Given the description of an element on the screen output the (x, y) to click on. 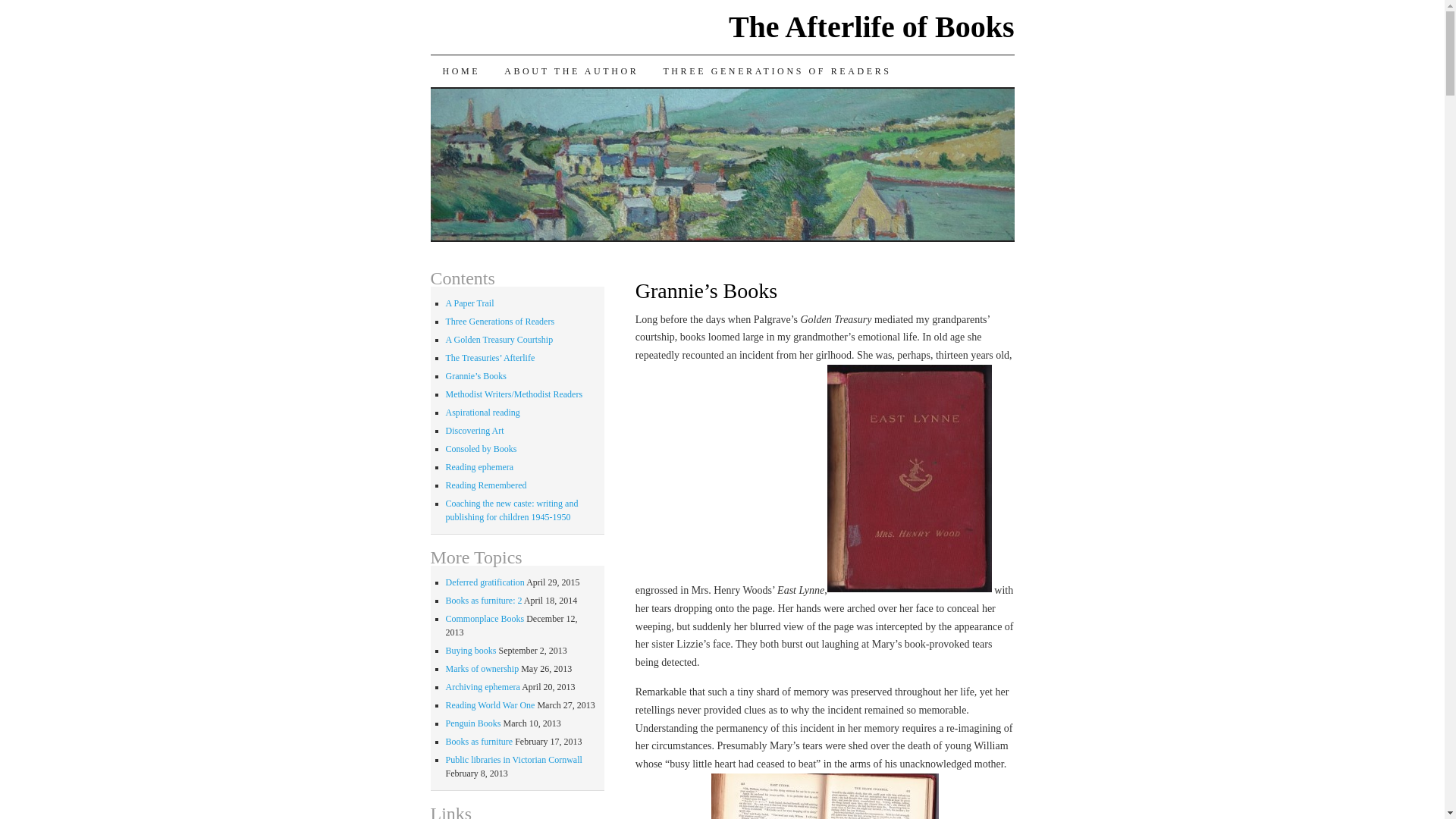
Discovering Art (474, 430)
The Afterlife of Books (871, 26)
Three Generations of Readers (499, 321)
Books as furniture: 2 (483, 600)
Aspirational reading (482, 412)
Books as furniture (479, 741)
Penguin Books (472, 723)
Deferred gratification (484, 582)
Consoled by Books (480, 448)
Commonplace Books (484, 618)
Reading World War One (490, 705)
A Paper Trail (470, 303)
Reading ephemera (479, 466)
Buying books (470, 650)
